Given the description of an element on the screen output the (x, y) to click on. 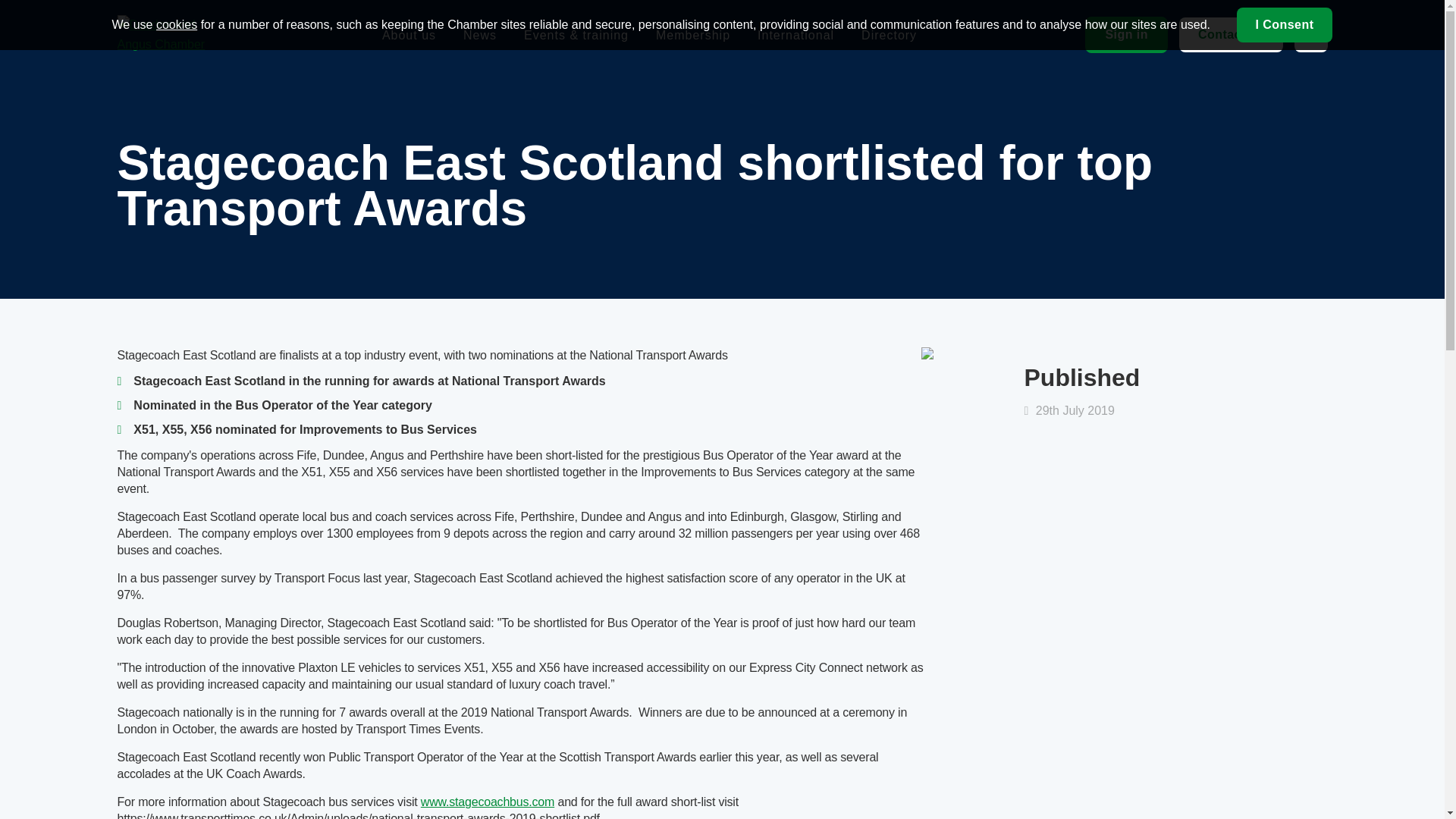
Directory (889, 34)
Contact us (1230, 34)
www.stagecoachbus.com (487, 801)
Sign in (1125, 34)
News (479, 34)
Learn more about how we use cookies (175, 24)
Sign in (1125, 34)
Membership (693, 34)
cookies (175, 24)
About us (408, 34)
